Given the description of an element on the screen output the (x, y) to click on. 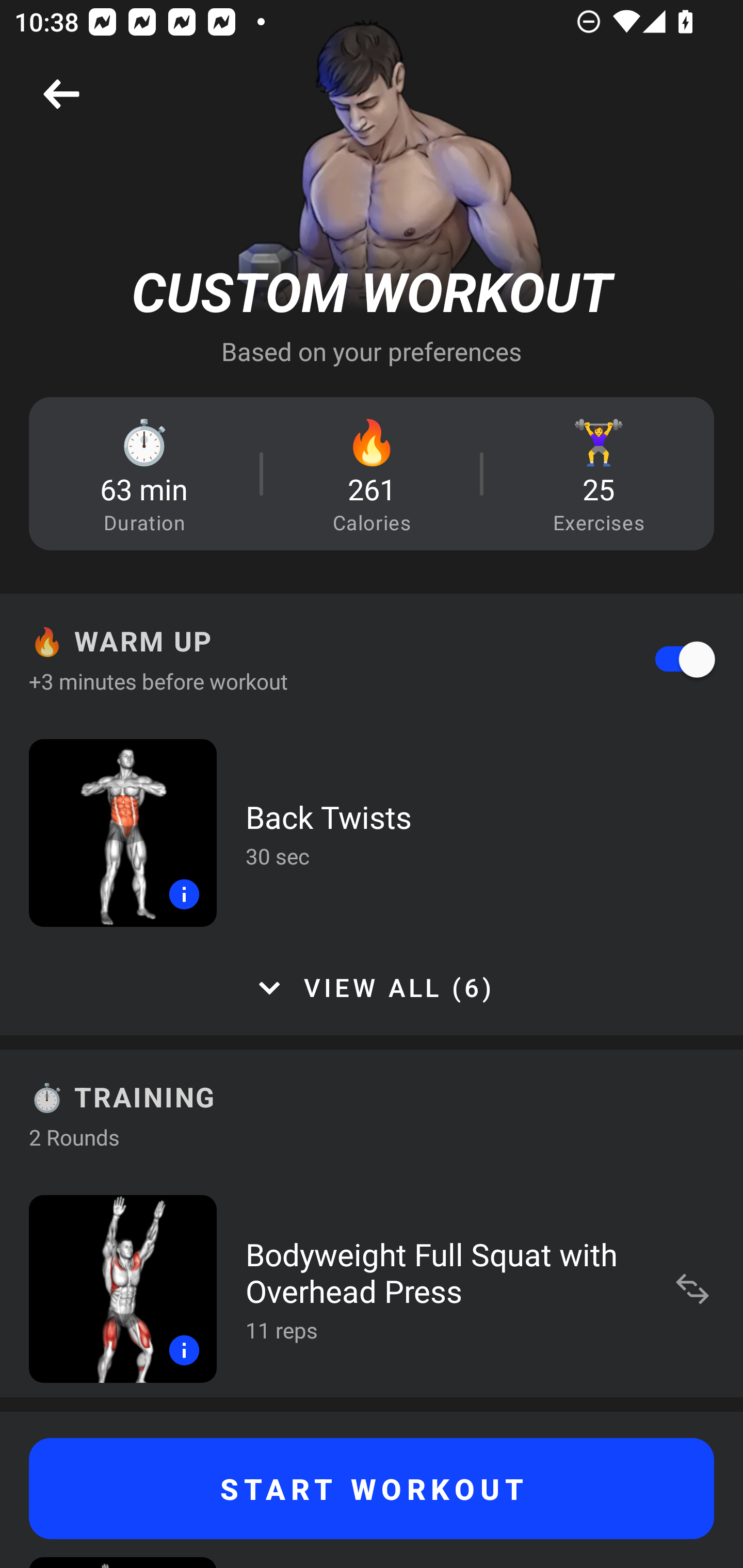
Back Twists 30 sec (371, 832)
VIEW ALL (6) (371, 987)
Bodyweight Full Squat with Overhead Press 11 reps (371, 1288)
START WORKOUT (371, 1488)
